Given the description of an element on the screen output the (x, y) to click on. 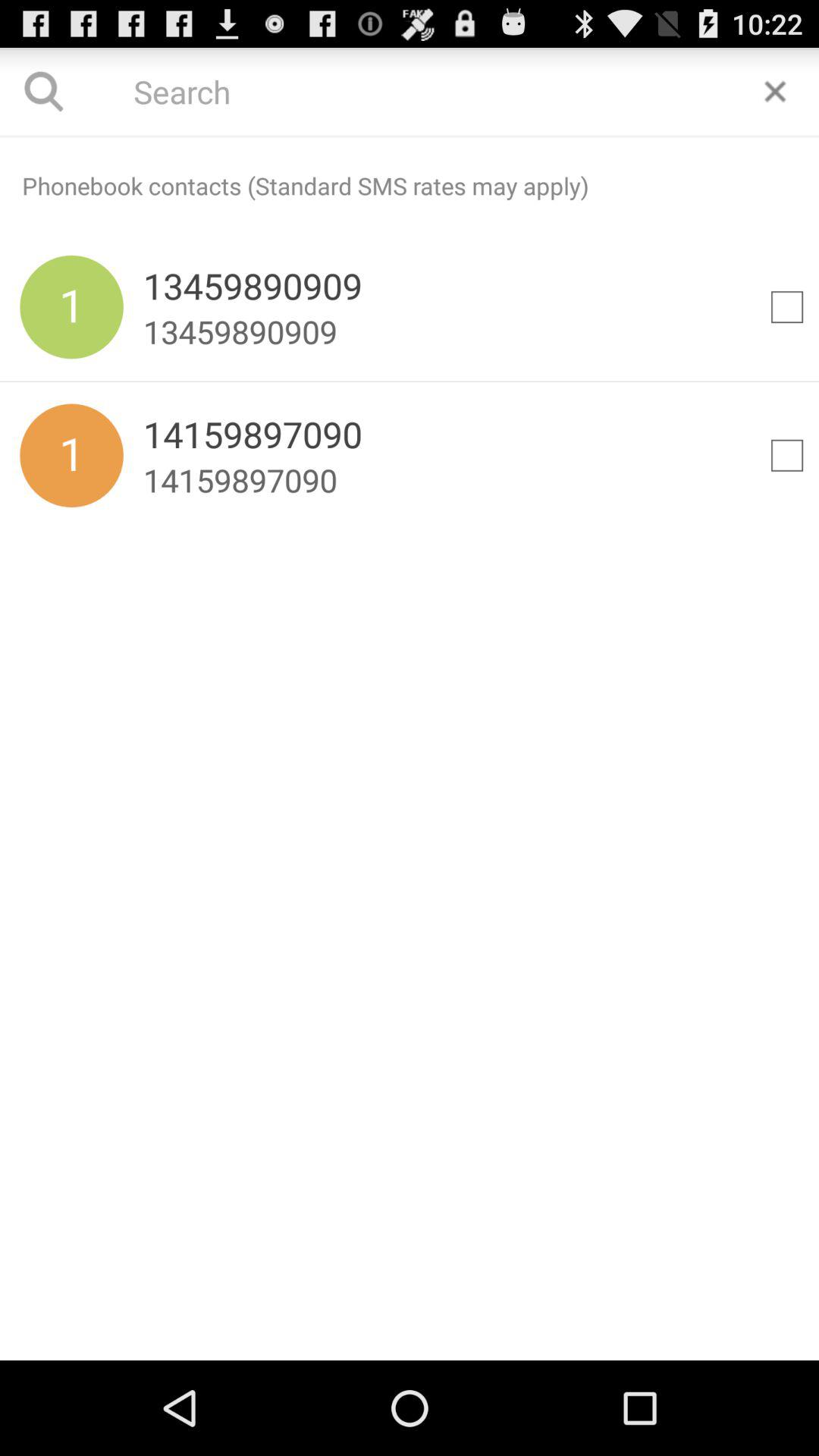
close option (775, 91)
